Given the description of an element on the screen output the (x, y) to click on. 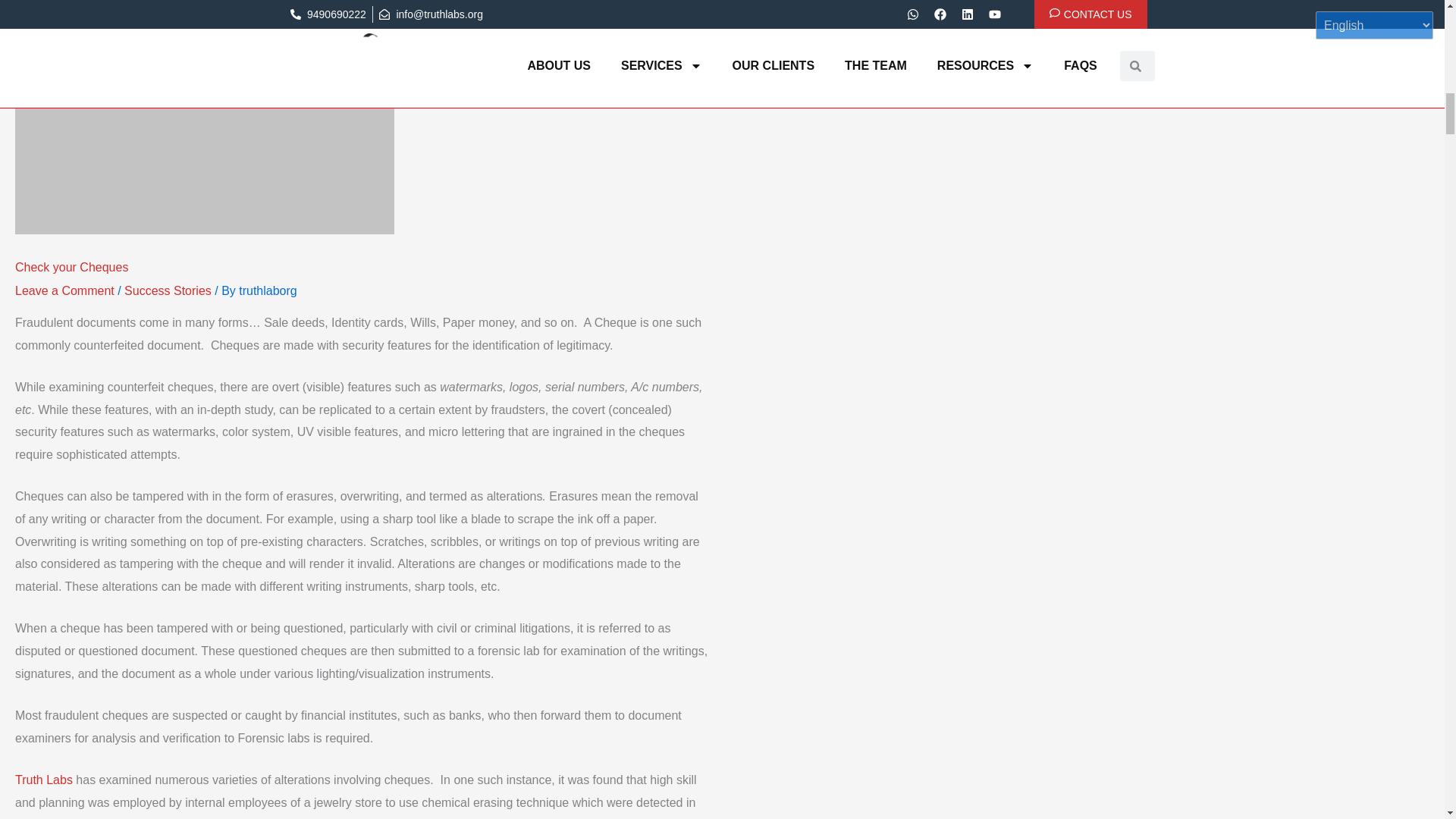
View all posts by truthlaborg (267, 290)
